Given the description of an element on the screen output the (x, y) to click on. 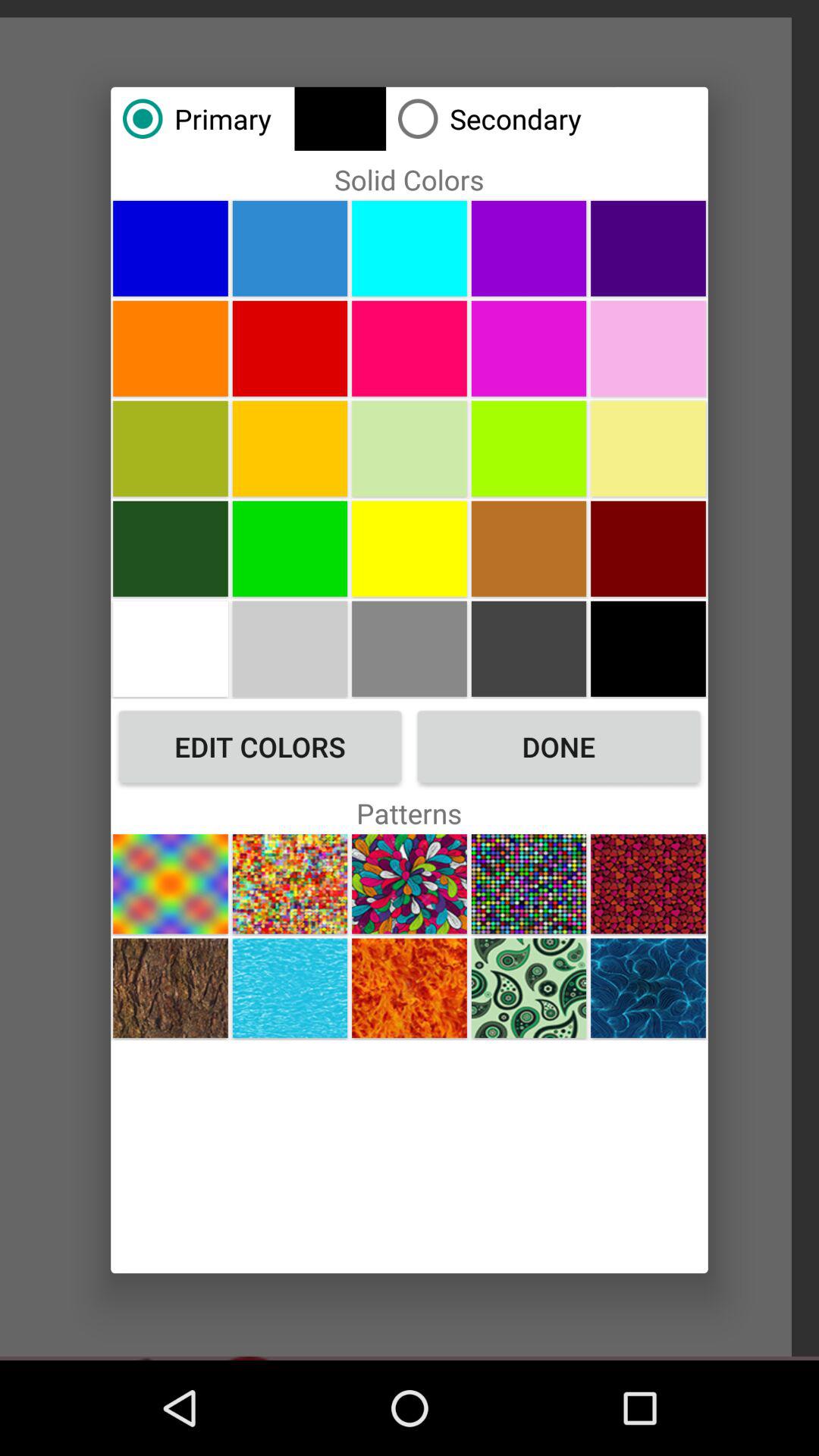
color options (289, 348)
